Given the description of an element on the screen output the (x, y) to click on. 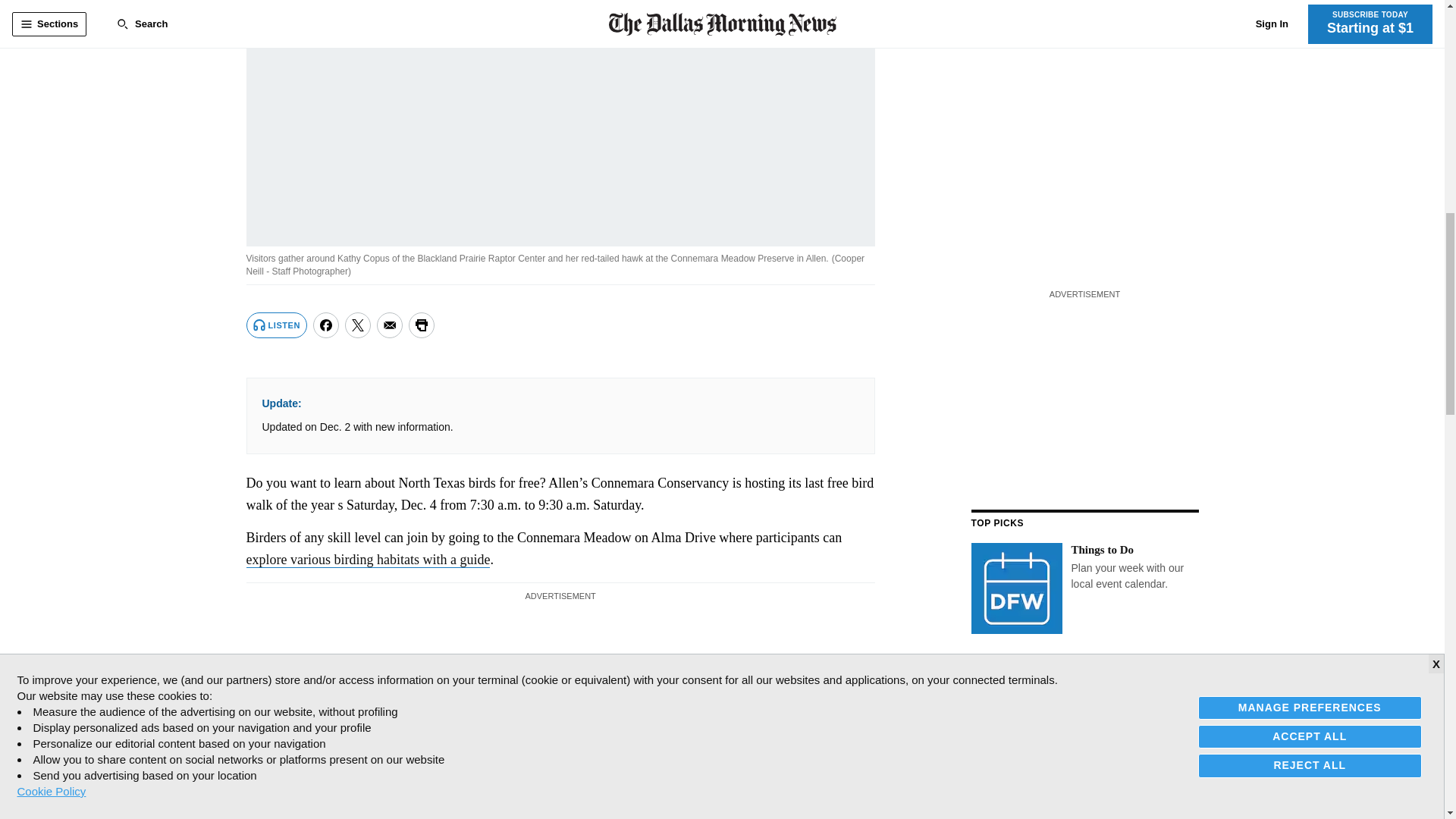
Share on Twitter (358, 325)
Share on Facebook (326, 325)
